Given the description of an element on the screen output the (x, y) to click on. 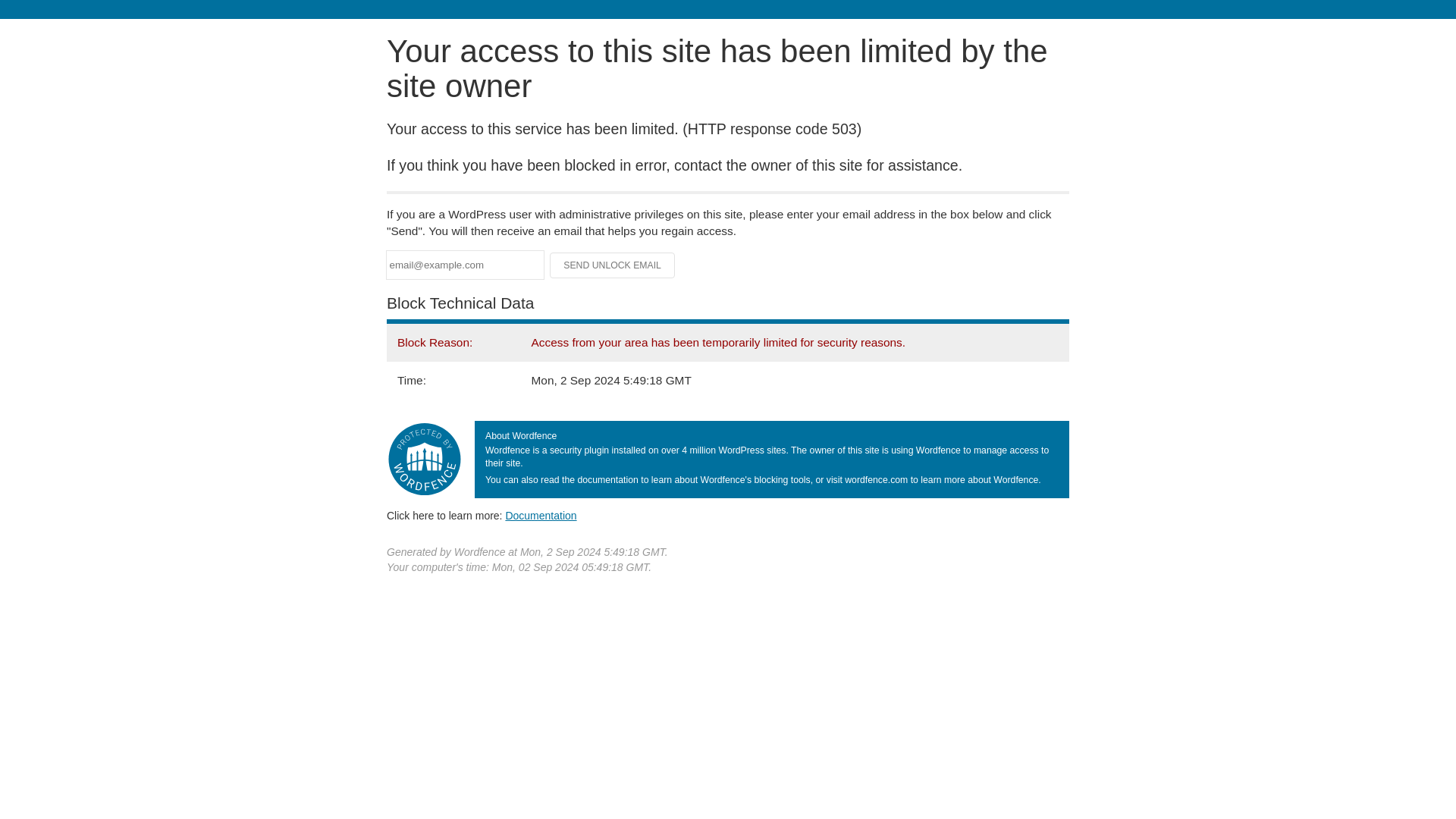
Send Unlock Email (612, 265)
Send Unlock Email (612, 265)
Documentation (540, 515)
